Given the description of an element on the screen output the (x, y) to click on. 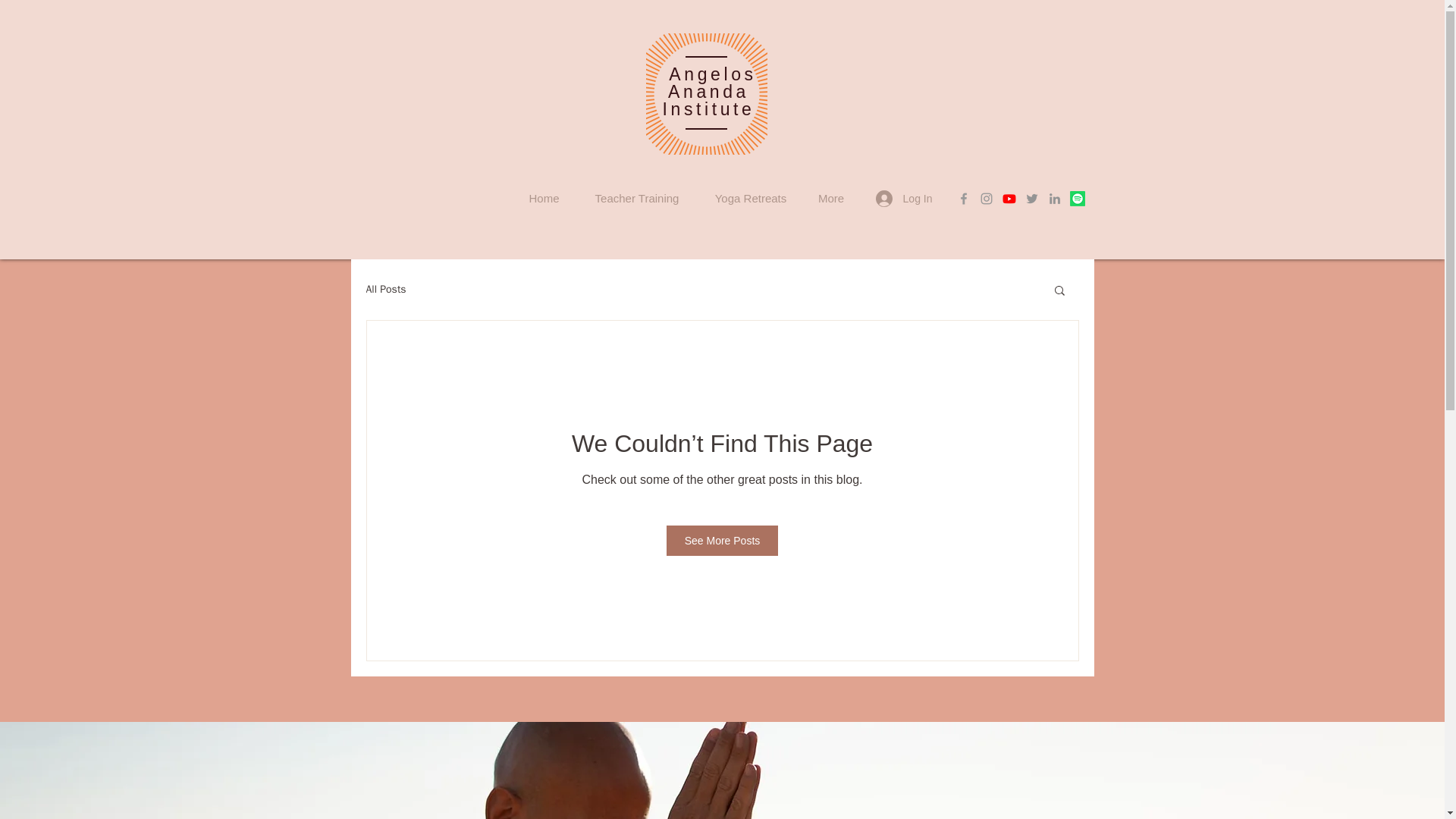
Yoga Retreats (750, 197)
Home (543, 197)
See More Posts (722, 540)
All Posts (385, 289)
Log In (903, 198)
Teacher Training (636, 197)
